Given the description of an element on the screen output the (x, y) to click on. 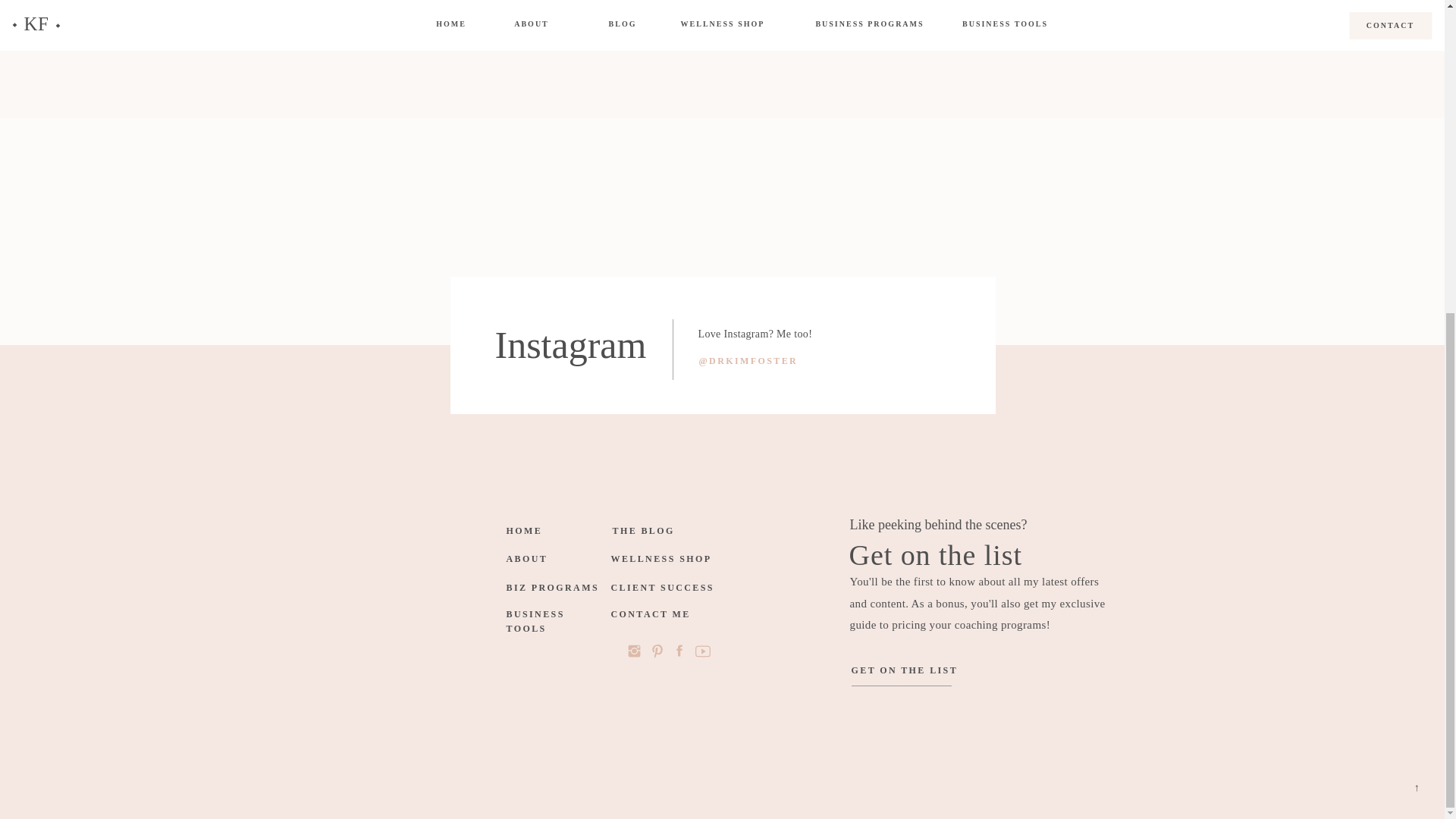
Get on the list (983, 553)
ABOUT (527, 560)
THE BLOG (650, 532)
WELLNESS SHOP (664, 560)
CONTACT ME (668, 615)
BUSINESS TOOLS (555, 615)
CLIENT SUCCESS (664, 589)
HOME (521, 532)
BIZ PROGRAMS (555, 589)
GET ON THE LIST (905, 671)
